Given the description of an element on the screen output the (x, y) to click on. 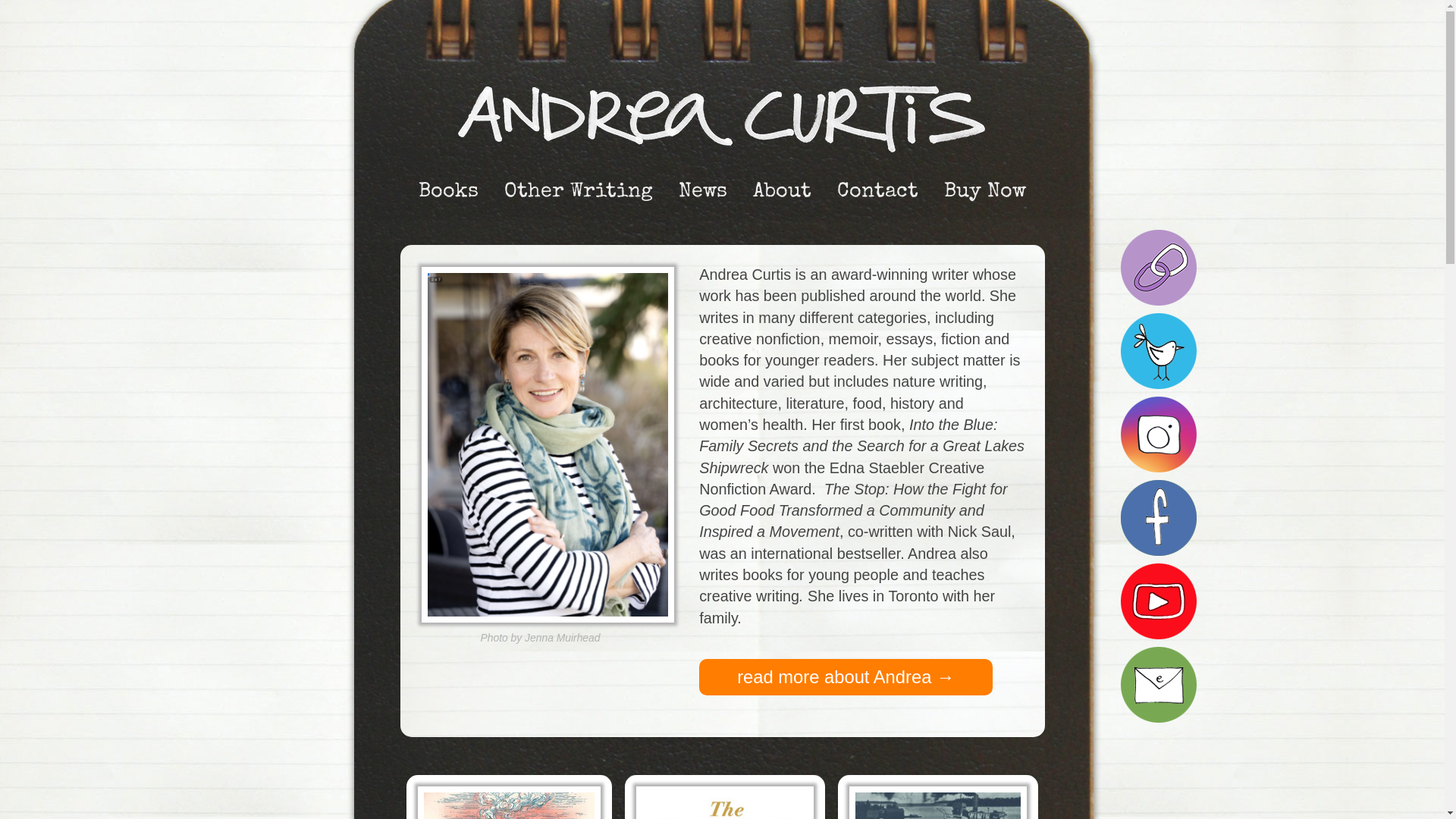
Books Element type: text (448, 192)
About Element type: text (782, 192)
Buy Now Element type: text (985, 192)
News Element type: text (702, 192)
Andrea Curtis Element type: hover (722, 117)
Contact Element type: text (877, 192)
Other Writing Element type: text (578, 192)
